Given the description of an element on the screen output the (x, y) to click on. 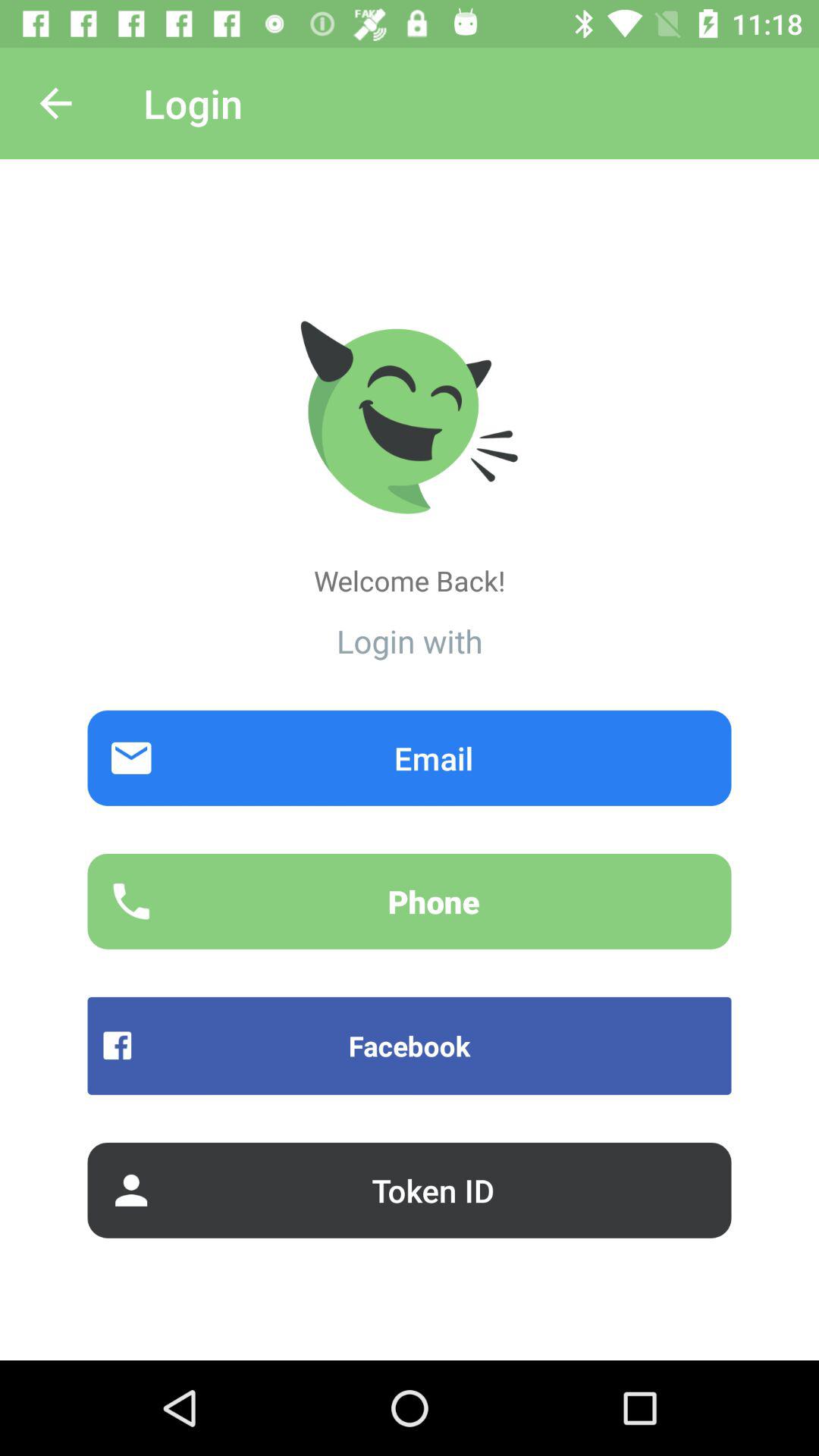
scroll until token id item (409, 1190)
